Given the description of an element on the screen output the (x, y) to click on. 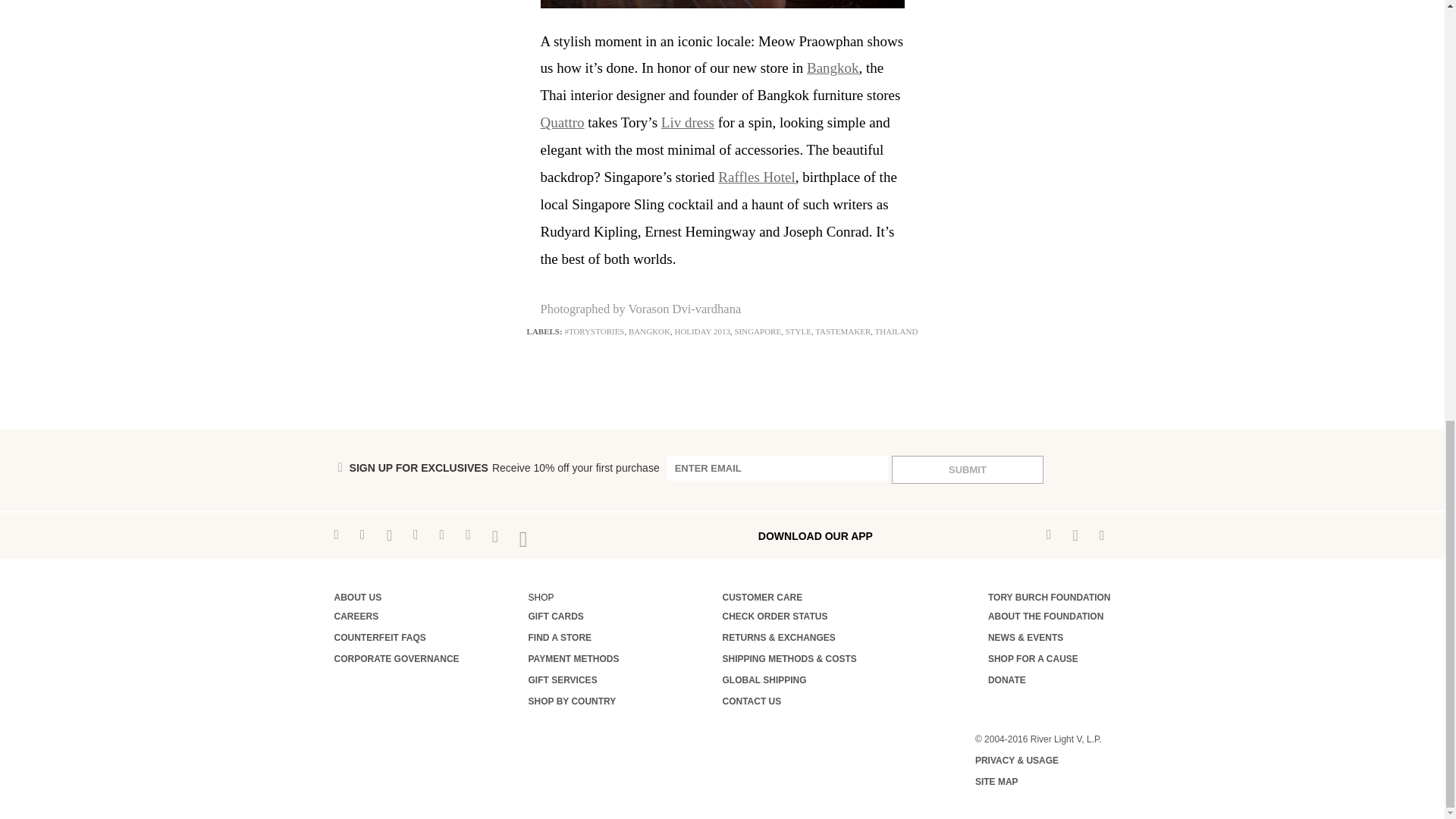
Follow Us on Facebook (336, 534)
TASTEMAKER (842, 330)
Follow Us on Twitter (442, 534)
Follow Us on Instagram (362, 534)
THAILAND (896, 330)
SUBMIT (967, 469)
Bangkok (832, 67)
SINGAPORE (756, 330)
Liv dress (687, 122)
STYLE (798, 330)
Raffles Hotel (755, 176)
Follow Us on Snapchat (389, 535)
Follow Us on Tumblr (416, 534)
HOLIDAY 2013 (701, 330)
Quattro (561, 122)
